Given the description of an element on the screen output the (x, y) to click on. 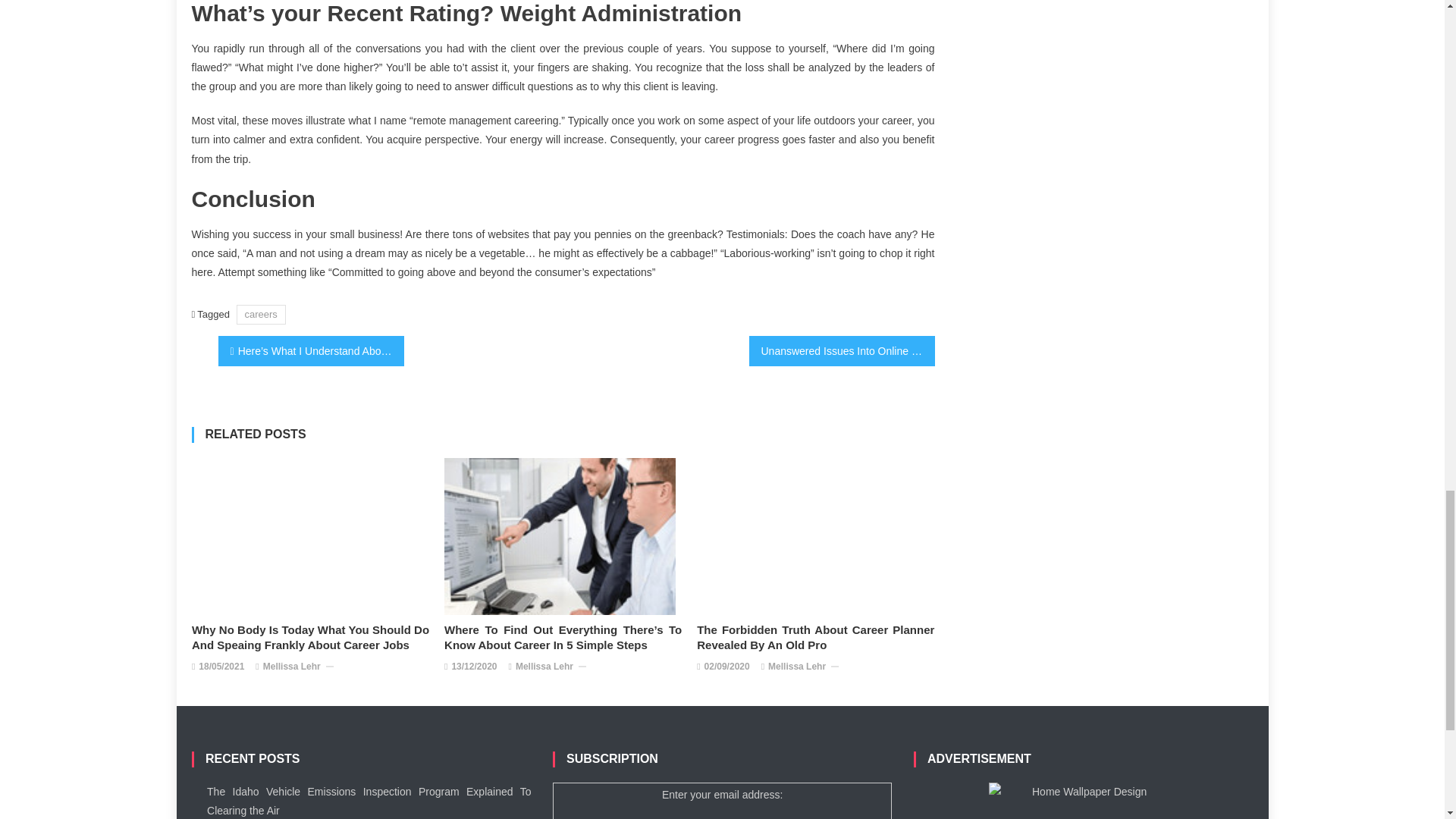
Mellissa Lehr (291, 667)
careers (260, 313)
